Given the description of an element on the screen output the (x, y) to click on. 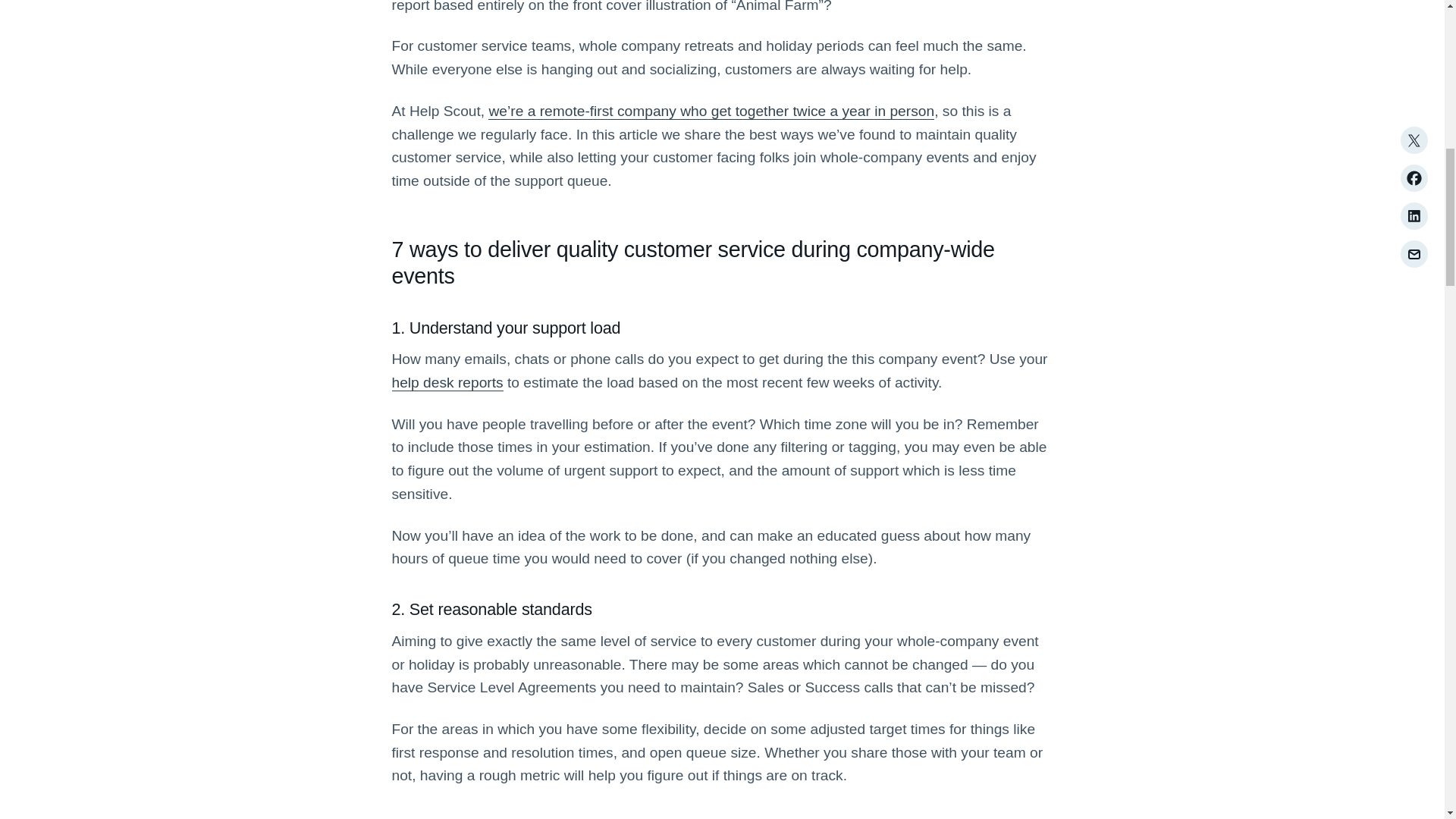
Share on Facebook (1412, 7)
Share via Email (1412, 77)
Share on LinkedIn (1412, 40)
